Given the description of an element on the screen output the (x, y) to click on. 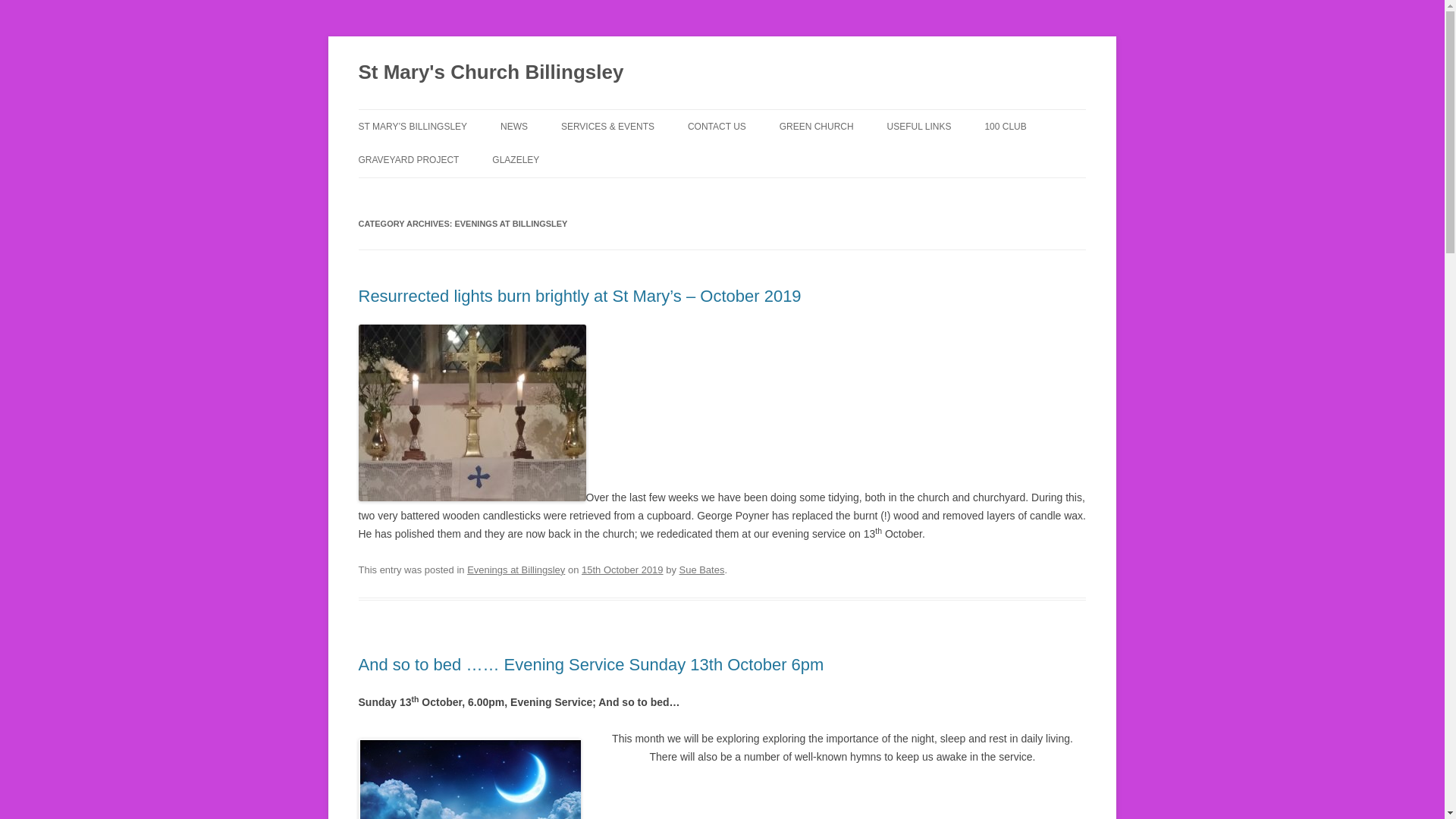
St Mary's Church Billingsley (490, 72)
GRAVEYARD PROJECT (408, 159)
15th October 2019 (621, 569)
100 CLUB (1005, 126)
Sue Bates (702, 569)
St Mary's Church Billingsley (490, 72)
GREEN CHURCH (815, 126)
View all posts by Sue Bates (702, 569)
CONTACT US (716, 126)
12:08 pm (621, 569)
USEFUL LINKS (919, 126)
100 CLUB DRAWS AND RESULTS (1059, 158)
HISTORY (433, 158)
Evenings at Billingsley (515, 569)
